Given the description of an element on the screen output the (x, y) to click on. 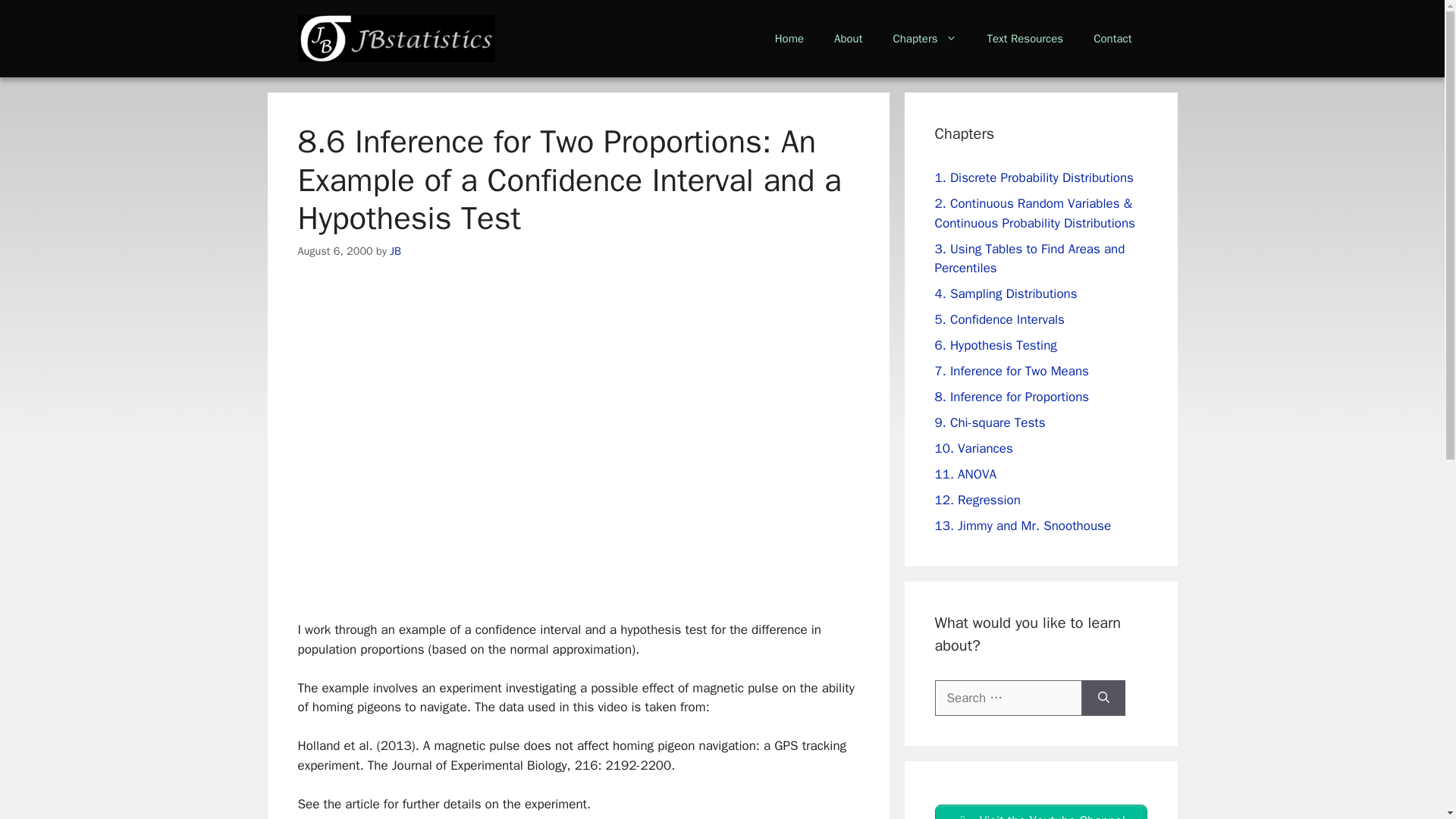
12. Regression (977, 499)
About (847, 38)
View all posts by JB (395, 250)
1. Discrete Probability Distributions (1033, 177)
4. Sampling Distributions (1005, 293)
Text Resources (1025, 38)
11. ANOVA (964, 474)
Contact (1112, 38)
7. Inference for Two Means (1010, 371)
3. Using Tables to Find Areas and Percentiles (1029, 258)
Chapters (924, 38)
JB (395, 250)
6. Hypothesis Testing (995, 344)
9. Chi-square Tests (989, 422)
8. Inference for Proportions (1011, 396)
